Given the description of an element on the screen output the (x, y) to click on. 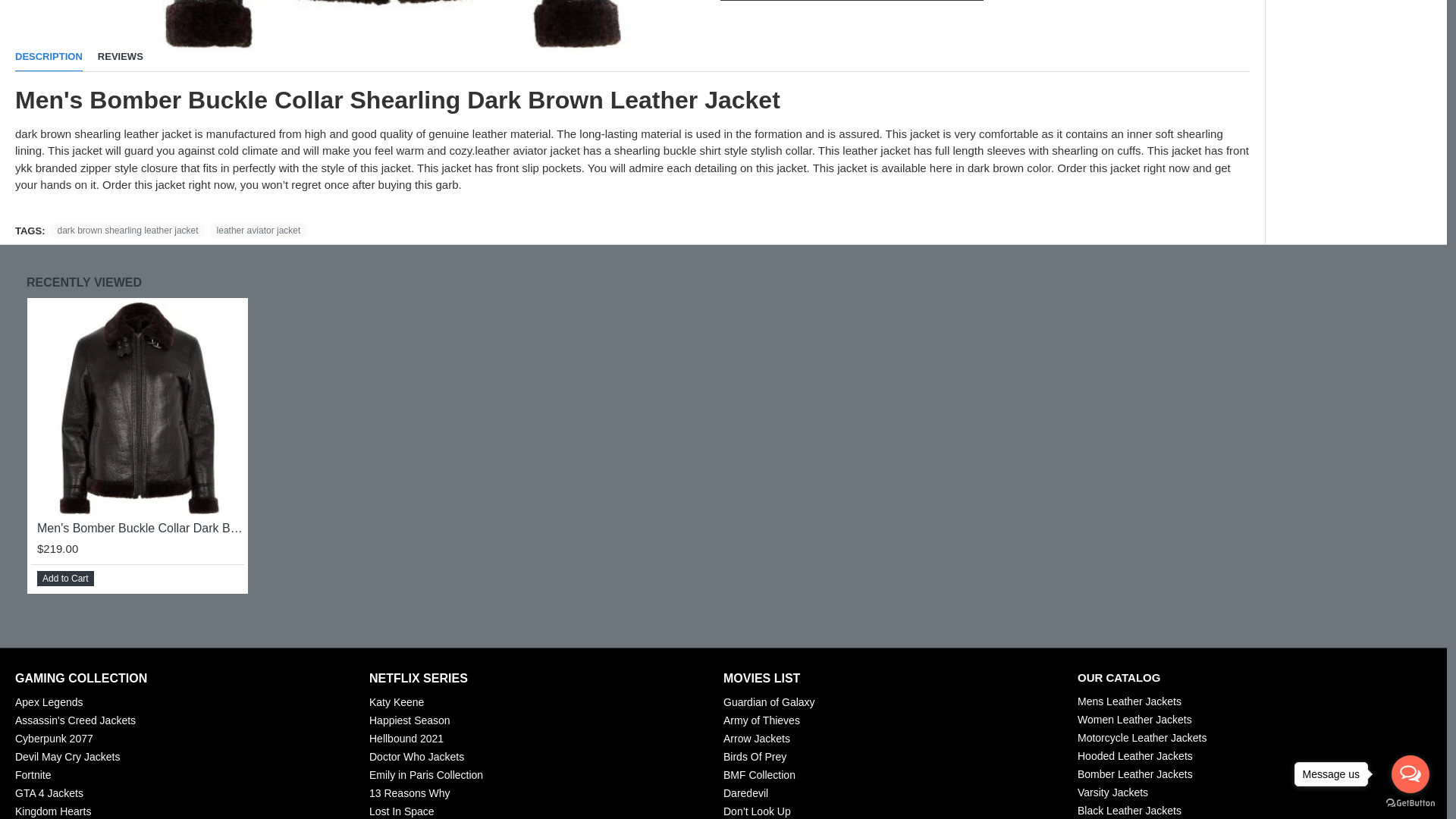
Men's Bomber Buckle Collar Dark Brown Leather Aviator Jacket (999, 25)
Men's Bomber Buckle Collar Dark Brown Leather Aviator Jacket (388, 25)
Men's Bomber Buckle Collar Dark Brown Leather Aviator Jacket (137, 408)
